Given the description of an element on the screen output the (x, y) to click on. 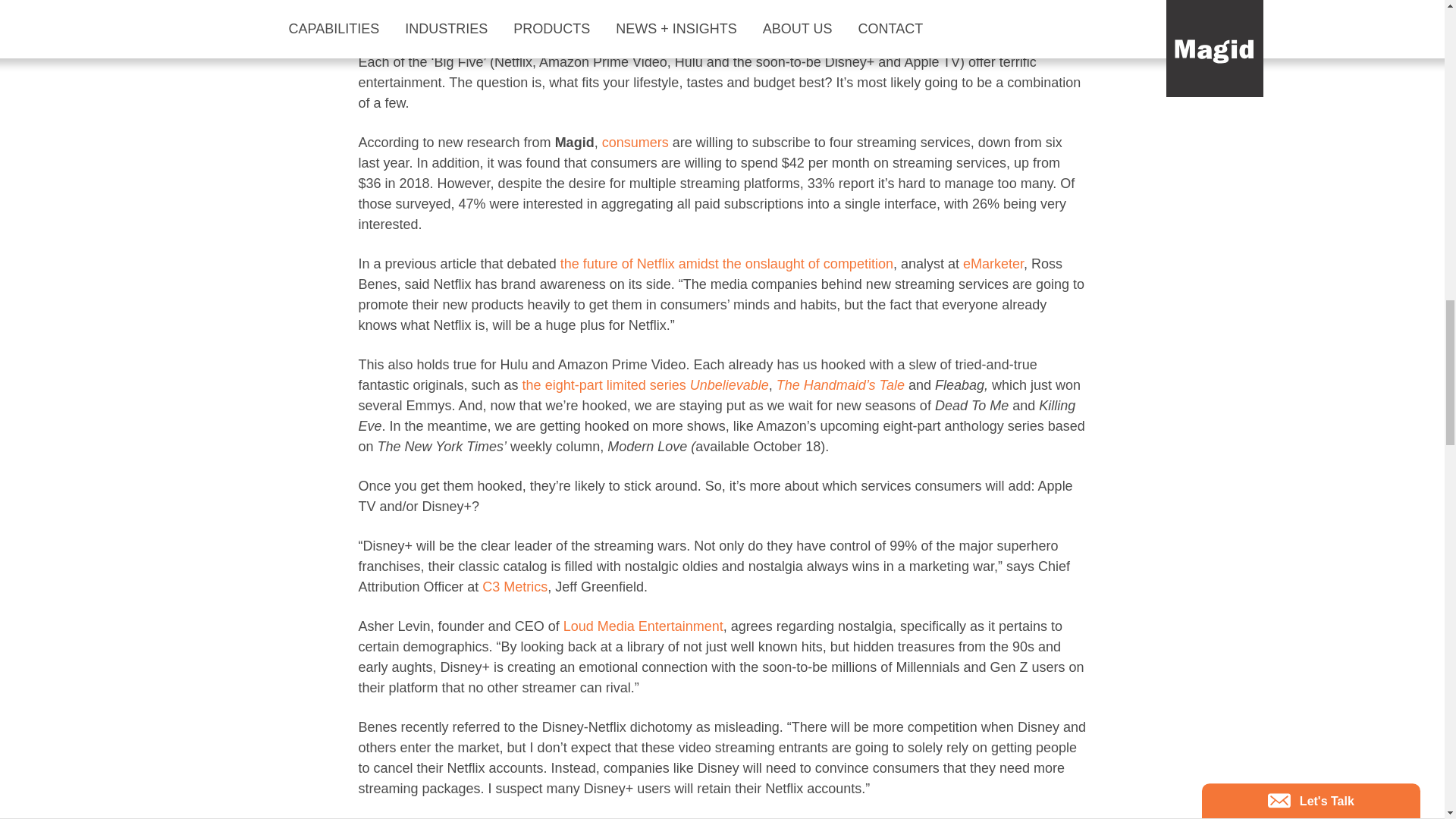
consumers (635, 142)
